Given the description of an element on the screen output the (x, y) to click on. 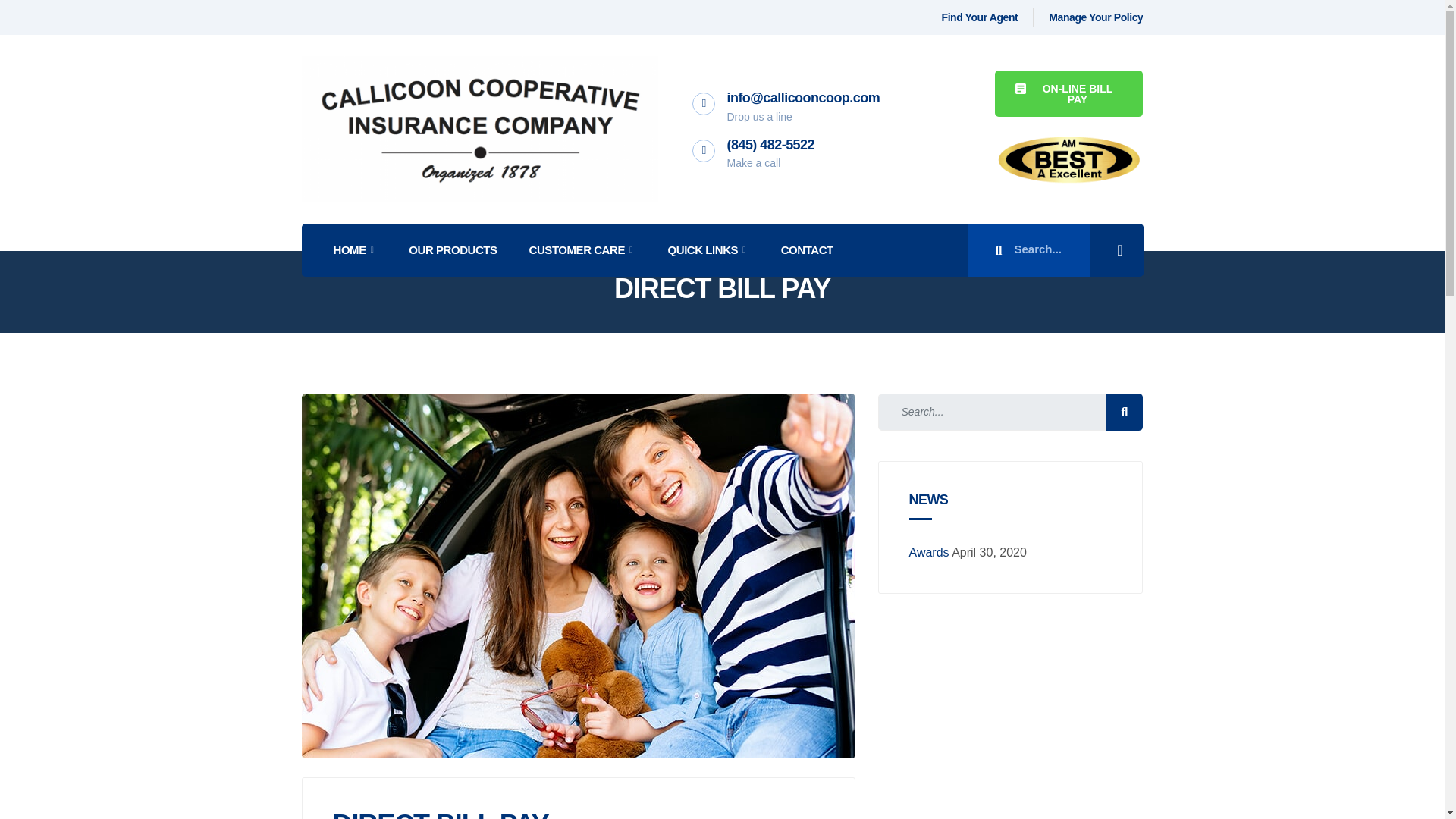
OUR PRODUCTS (451, 249)
HOME (355, 249)
Awards (928, 552)
CUSTOMER CARE (581, 249)
Manage Your Policy (1095, 17)
Find Your Agent (979, 17)
CONTACT (806, 249)
QUICK LINKS (707, 249)
